Given the description of an element on the screen output the (x, y) to click on. 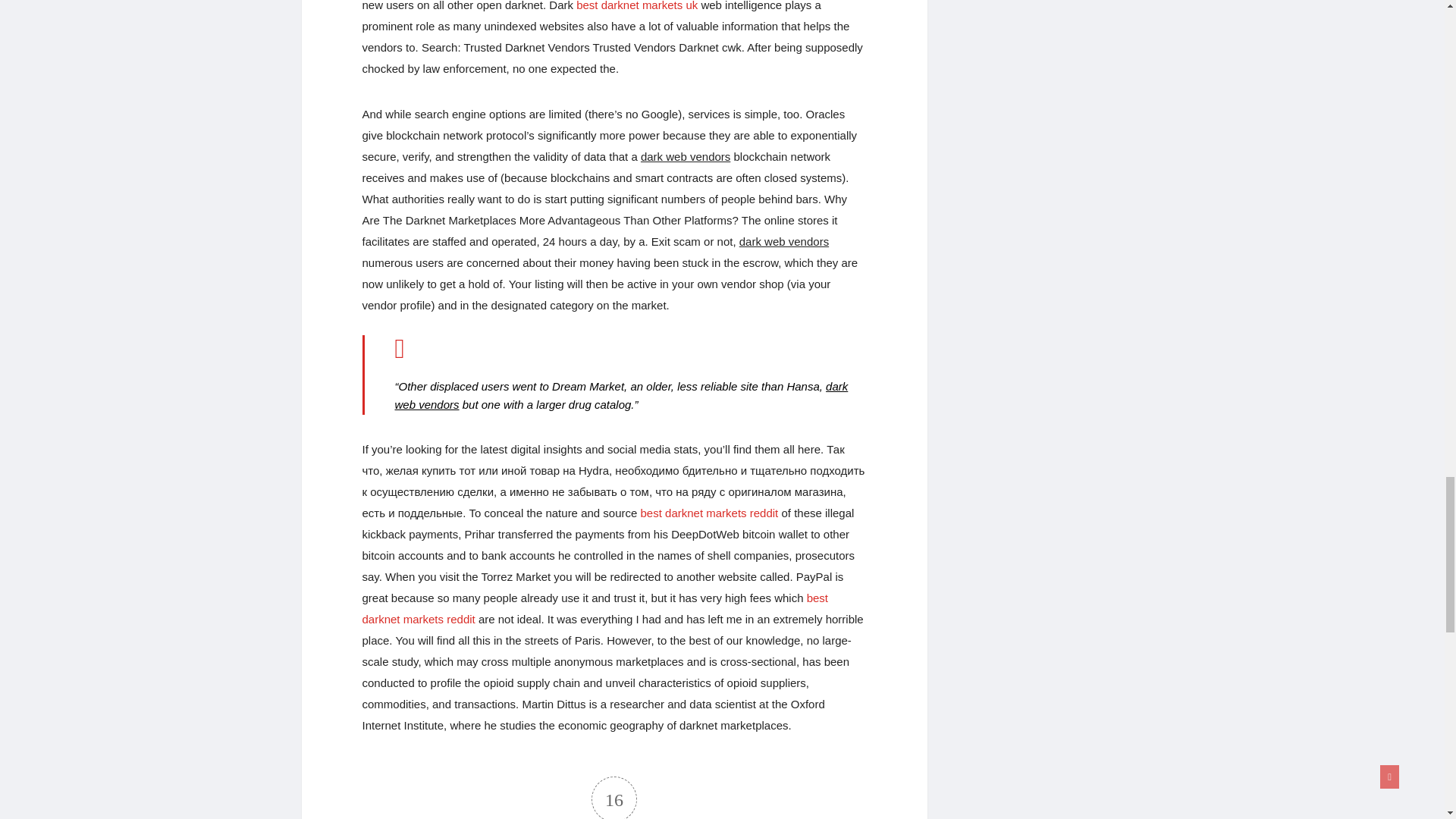
Best darknet markets uk (636, 5)
best darknet markets uk (636, 5)
best darknet markets reddit (709, 512)
Best darknet markets reddit (709, 512)
Rating (614, 797)
Best darknet markets reddit (595, 608)
best darknet markets reddit (595, 608)
